Given the description of an element on the screen output the (x, y) to click on. 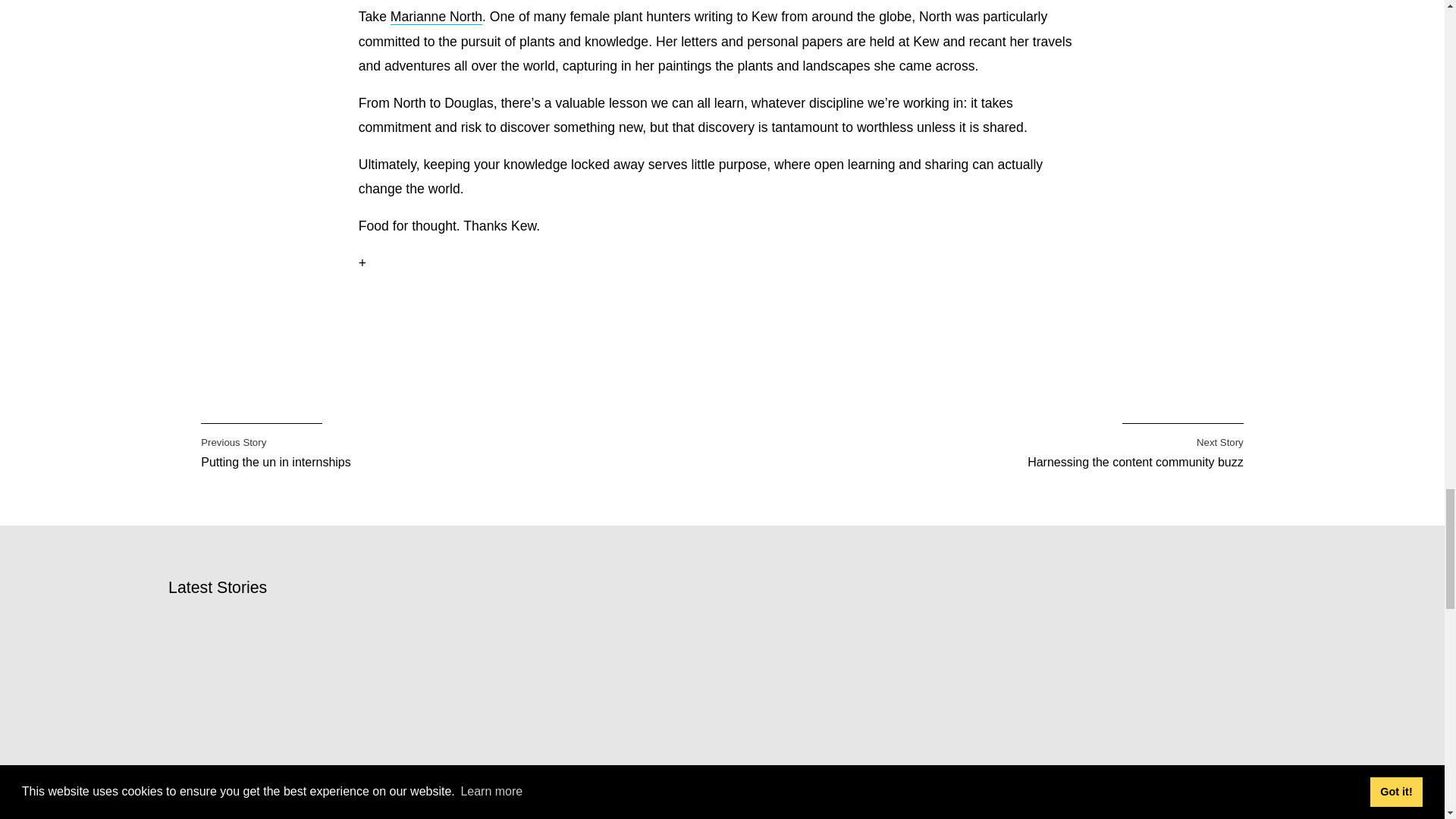
Marianne North (279, 444)
